Given the description of an element on the screen output the (x, y) to click on. 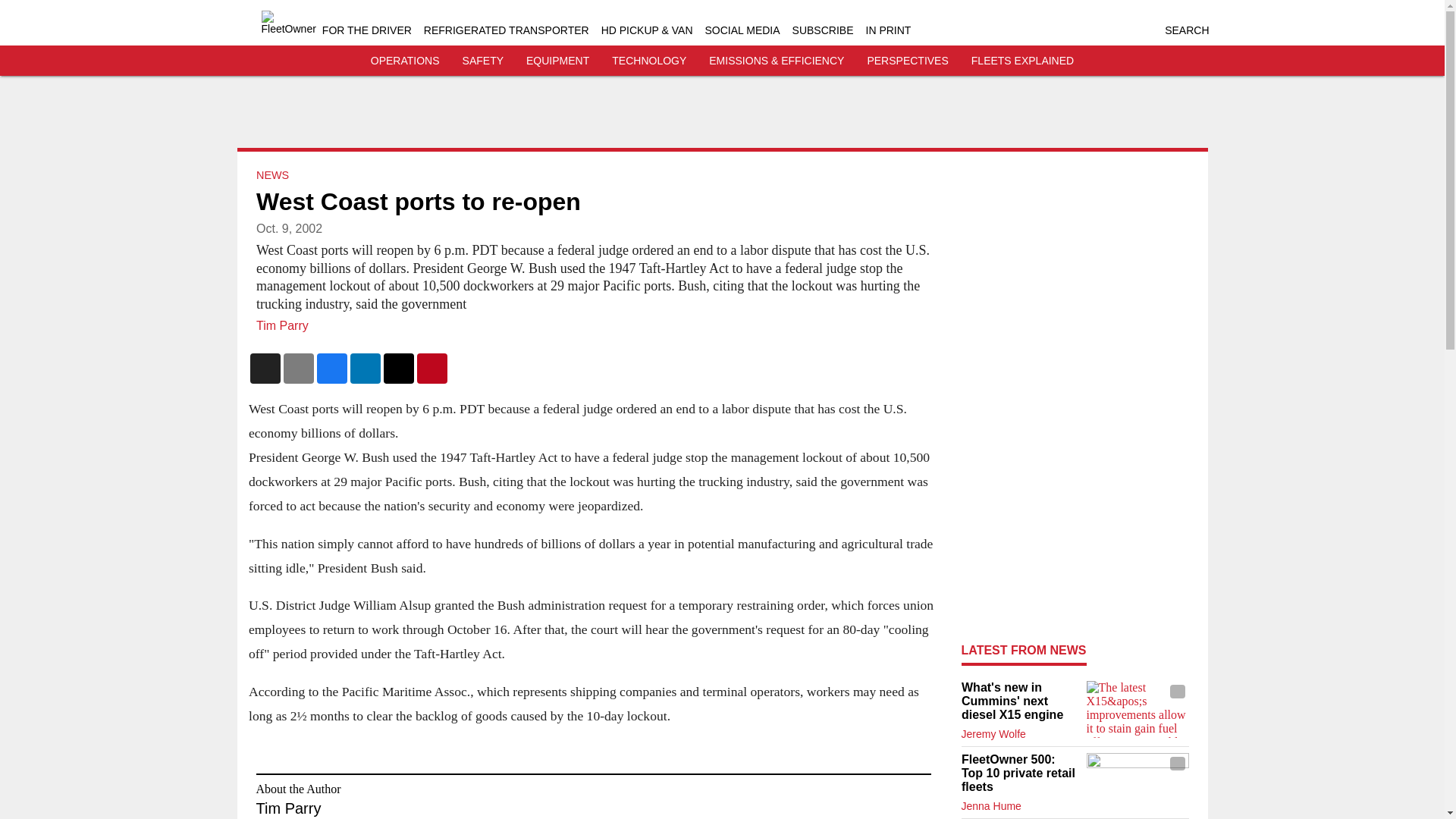
IN PRINT (888, 30)
FLEETS EXPLAINED (1022, 60)
SOCIAL MEDIA (742, 30)
PERSPECTIVES (906, 60)
TECHNOLOGY (648, 60)
SEARCH (1186, 30)
REFRIGERATED TRANSPORTER (506, 30)
What's new in Cummins' next diesel X15 engine (1019, 700)
Jeremy Wolfe (993, 734)
SUBSCRIBE (822, 30)
